Given the description of an element on the screen output the (x, y) to click on. 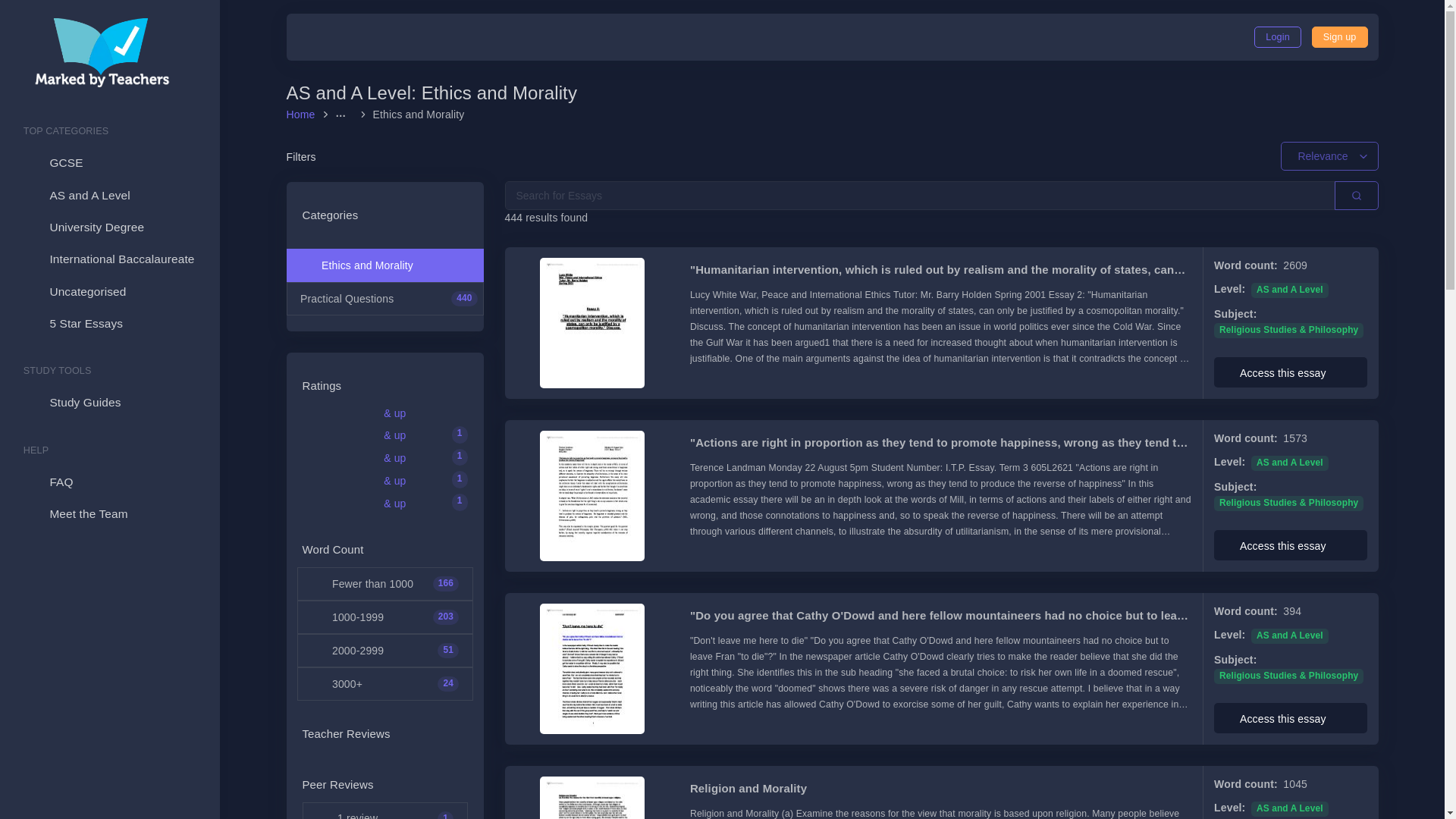
Login (1277, 36)
FAQ (109, 481)
Meet the Team (109, 513)
University Degree (109, 227)
Uncategorised (109, 291)
Religion and Morality (941, 788)
Study Guides (109, 402)
International Baccalaureate (109, 259)
GCSE (109, 163)
